Given the description of an element on the screen output the (x, y) to click on. 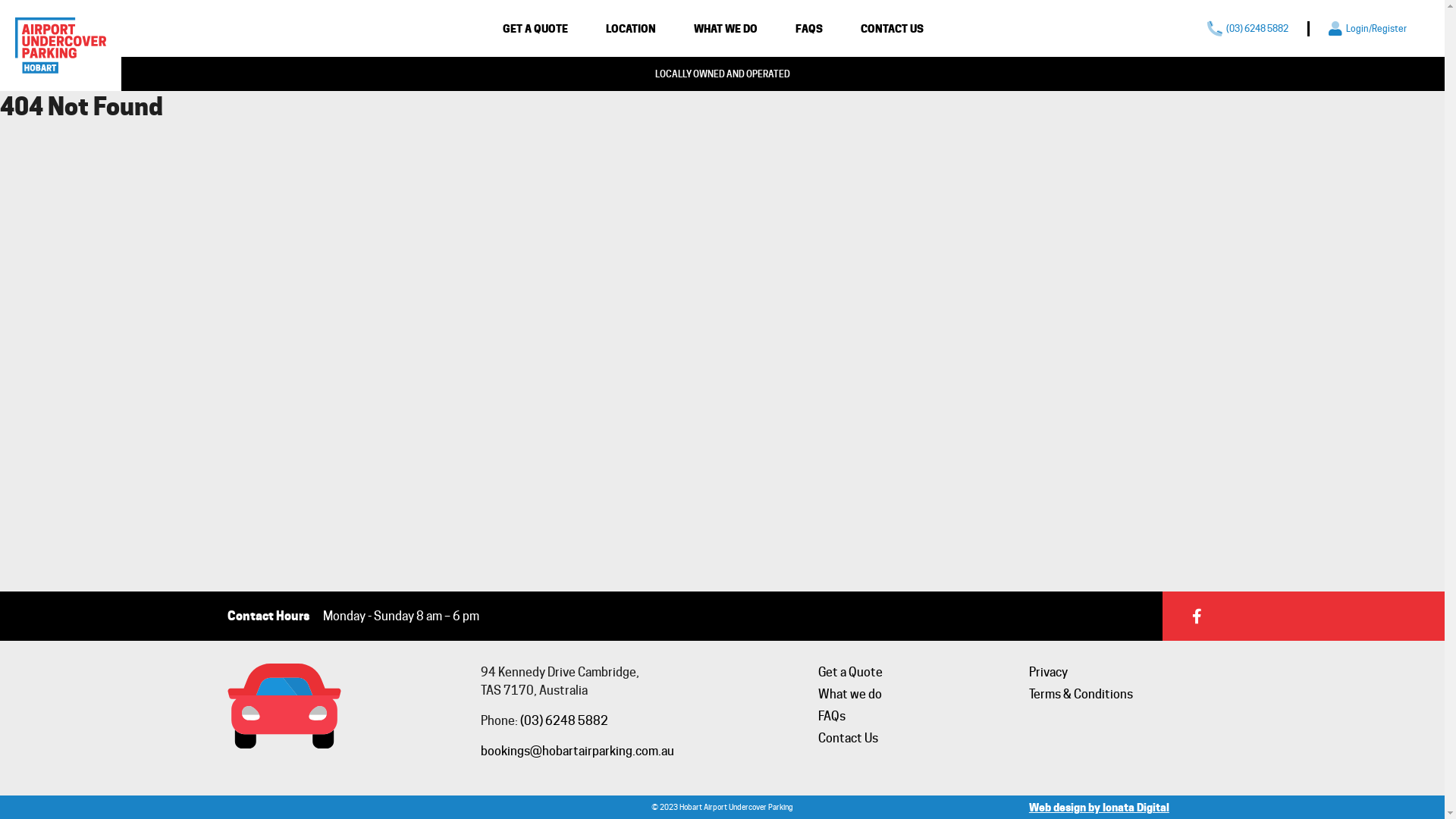
bookings@hobartairparking.com.au Element type: text (577, 750)
Terms & Conditions Element type: text (1080, 694)
Get a Quote Element type: text (850, 672)
Contact Us Element type: text (848, 738)
(03) 6248 5882 Element type: text (564, 720)
Privacy Element type: text (1048, 672)
What we do Element type: text (849, 694)
Web design by Ionata Digital Element type: text (1099, 806)
GET A QUOTE Element type: text (534, 27)
LOCATION Element type: text (630, 27)
FAQs Element type: text (831, 716)
(03) 6248 5882 Element type: text (1247, 28)
Login/Register Element type: text (1367, 28)
CONTACT US Element type: text (890, 27)
FAQS Element type: text (808, 27)
WHAT WE DO Element type: text (724, 27)
